Given the description of an element on the screen output the (x, y) to click on. 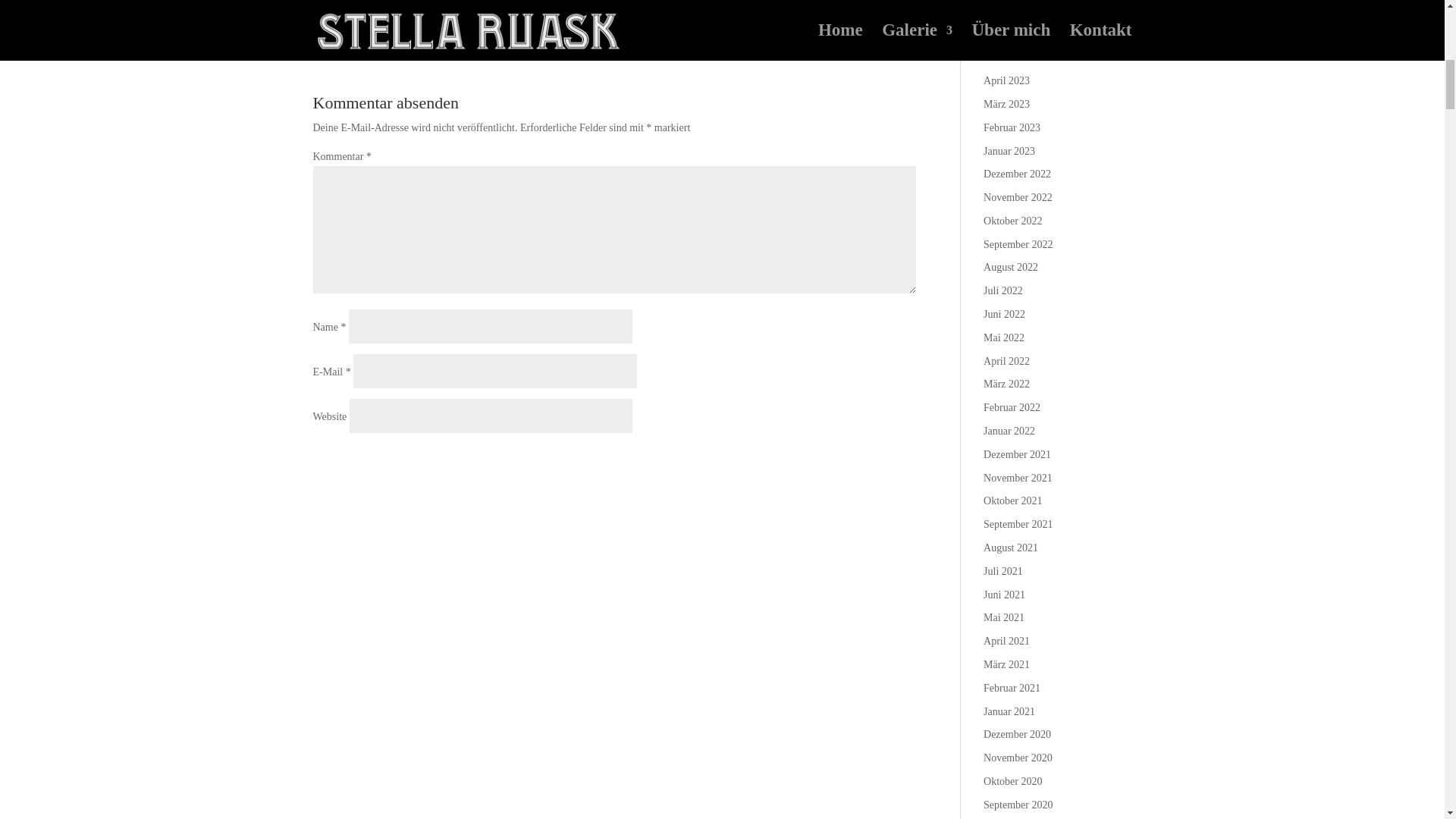
Februar 2023 (1012, 127)
Mai 2023 (1004, 57)
Kommentar absenden (832, 462)
Januar 2023 (1009, 151)
Kommentar absenden (832, 462)
April 2023 (1006, 80)
Dezember 2022 (1017, 173)
Juli 2023 (1003, 10)
Juni 2023 (1004, 34)
